Given the description of an element on the screen output the (x, y) to click on. 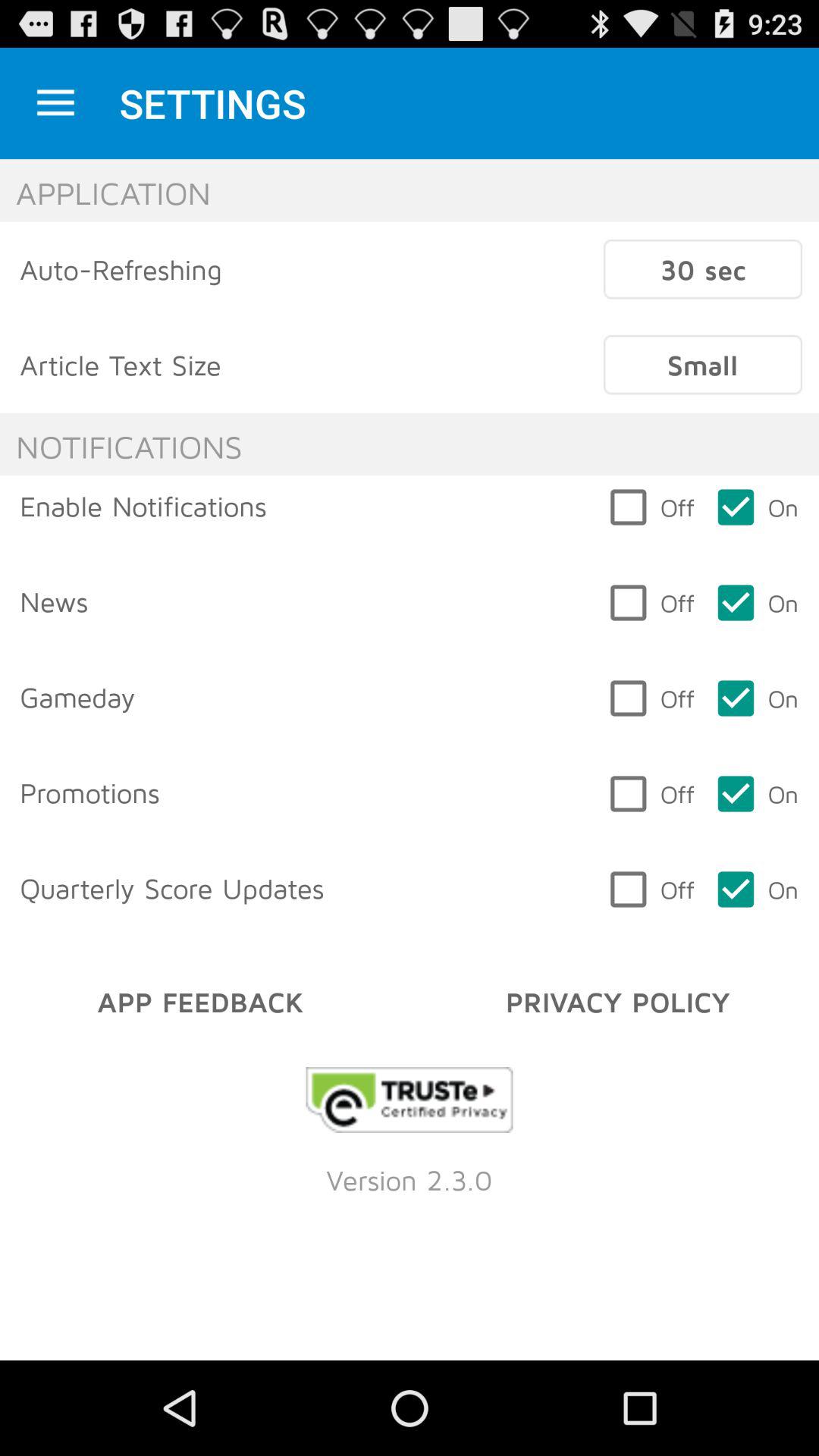
opens a link to the developer (409, 1099)
